Given the description of an element on the screen output the (x, y) to click on. 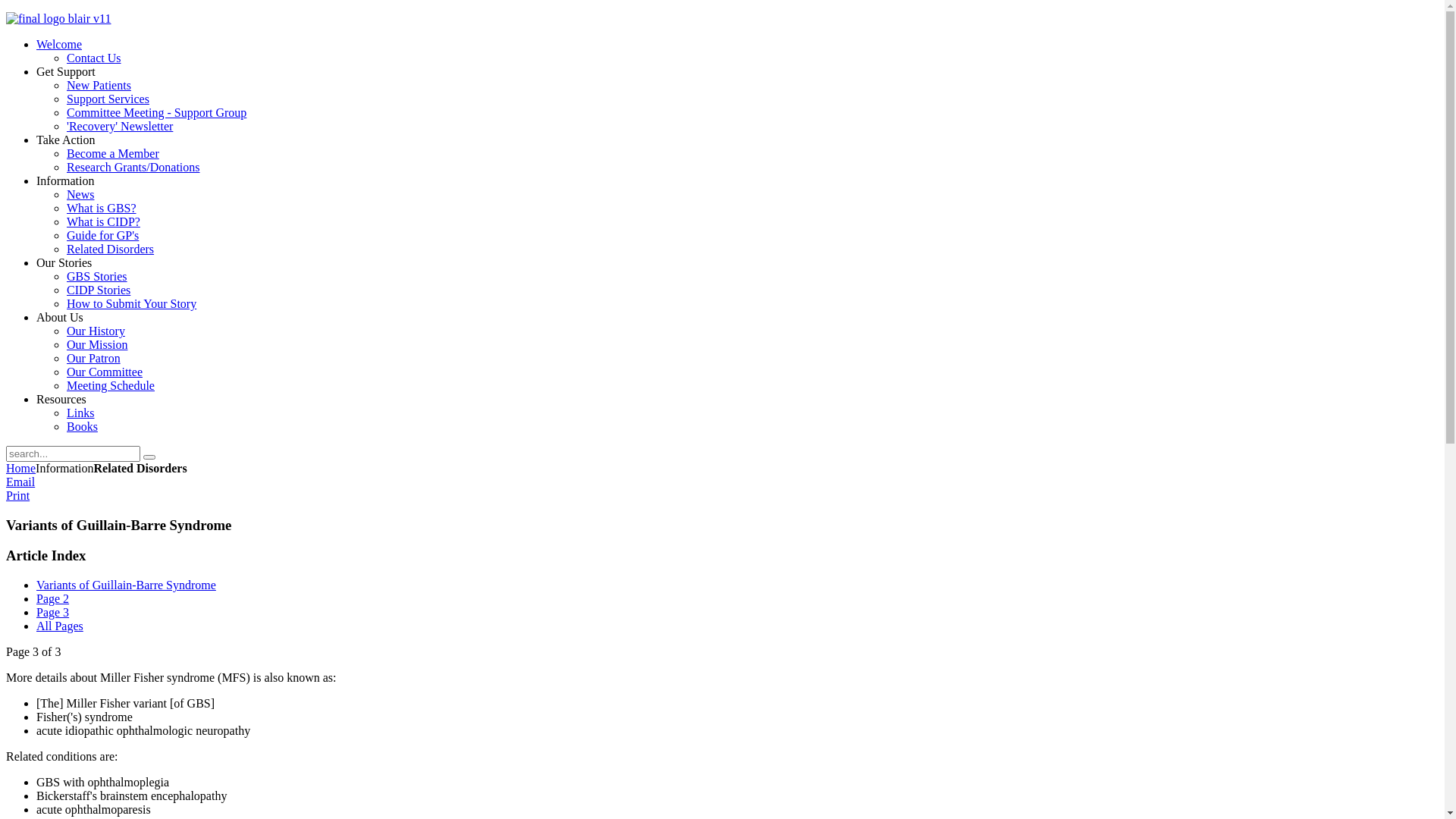
Committee Meeting - Support Group Element type: text (156, 112)
How to Submit Your Story Element type: text (131, 303)
All Pages Element type: text (59, 625)
Become a Member Element type: text (112, 153)
'Recovery' Newsletter Element type: text (119, 125)
Our History Element type: text (95, 330)
Related Disorders Element type: text (109, 248)
What is GBS? Element type: text (101, 207)
Links Element type: text (80, 412)
Welcome Element type: text (58, 43)
GBS Stories Element type: text (96, 275)
Home Element type: text (20, 467)
Meeting Schedule Element type: text (110, 385)
Page 2 Element type: text (52, 598)
Email Element type: text (20, 481)
Variants of Guillain-Barre Syndrome Element type: text (126, 584)
CIDP Stories Element type: text (98, 289)
Support Services Element type: text (107, 98)
Page 3 Element type: text (52, 611)
Contact Us Element type: text (93, 57)
Our Patron Element type: text (93, 357)
News Element type: text (80, 194)
Research Grants/Donations Element type: text (133, 166)
New Patients Element type: text (98, 84)
What is CIDP? Element type: text (103, 221)
Our Mission Element type: text (96, 344)
Print Element type: text (17, 495)
Our Committee Element type: text (104, 371)
Reset Element type: text (149, 457)
Guide for GP's Element type: text (102, 235)
Books Element type: text (81, 426)
